Given the description of an element on the screen output the (x, y) to click on. 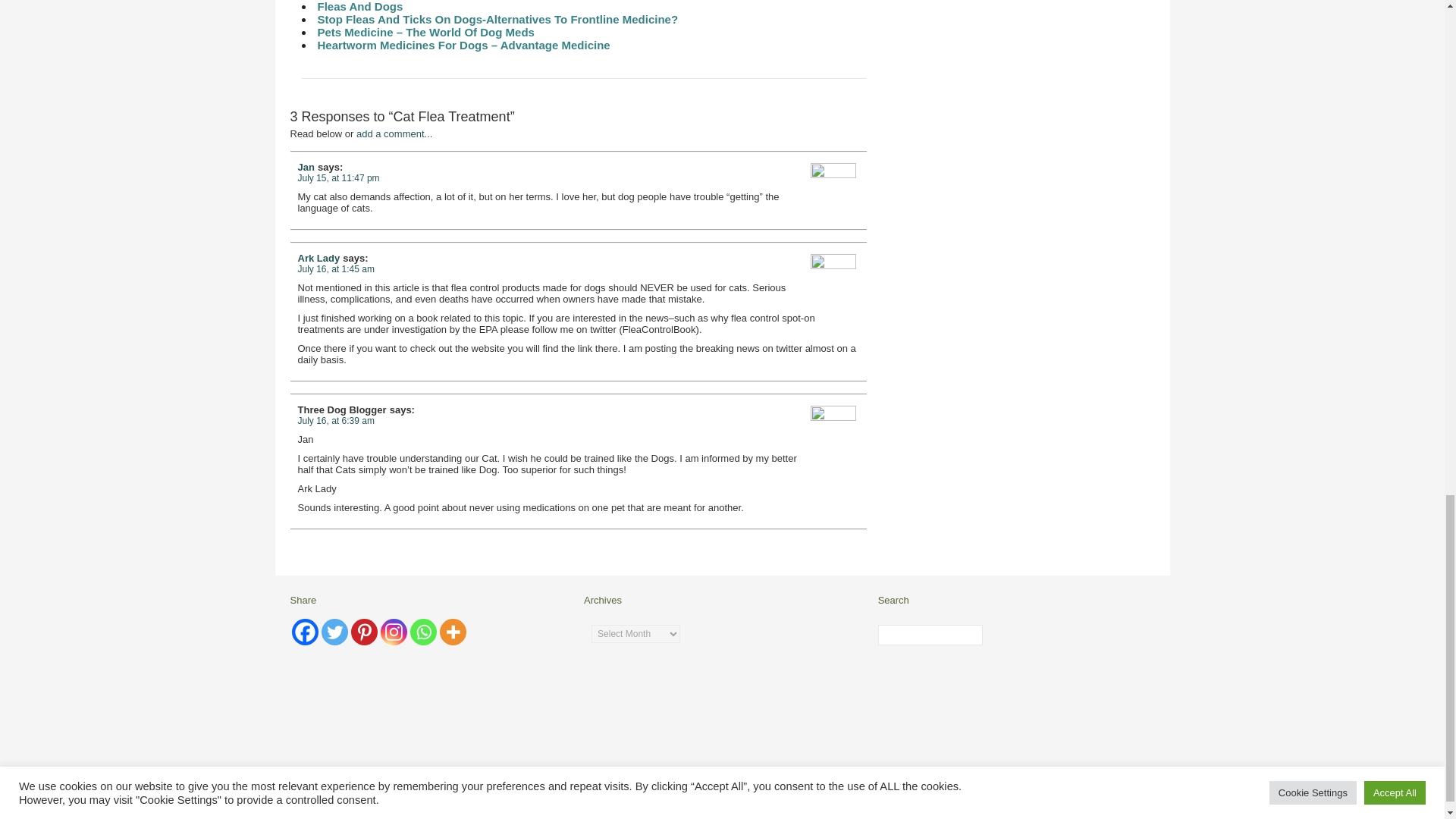
add a comment... (394, 133)
Fleas And Dogs (360, 6)
July 16, at 6:39 am (335, 420)
Fleas And Dogs (360, 6)
July 15, at 11:47 pm (337, 177)
July 16, at 1:45 am (335, 268)
Jan (305, 166)
Ark Lady (318, 257)
